Given the description of an element on the screen output the (x, y) to click on. 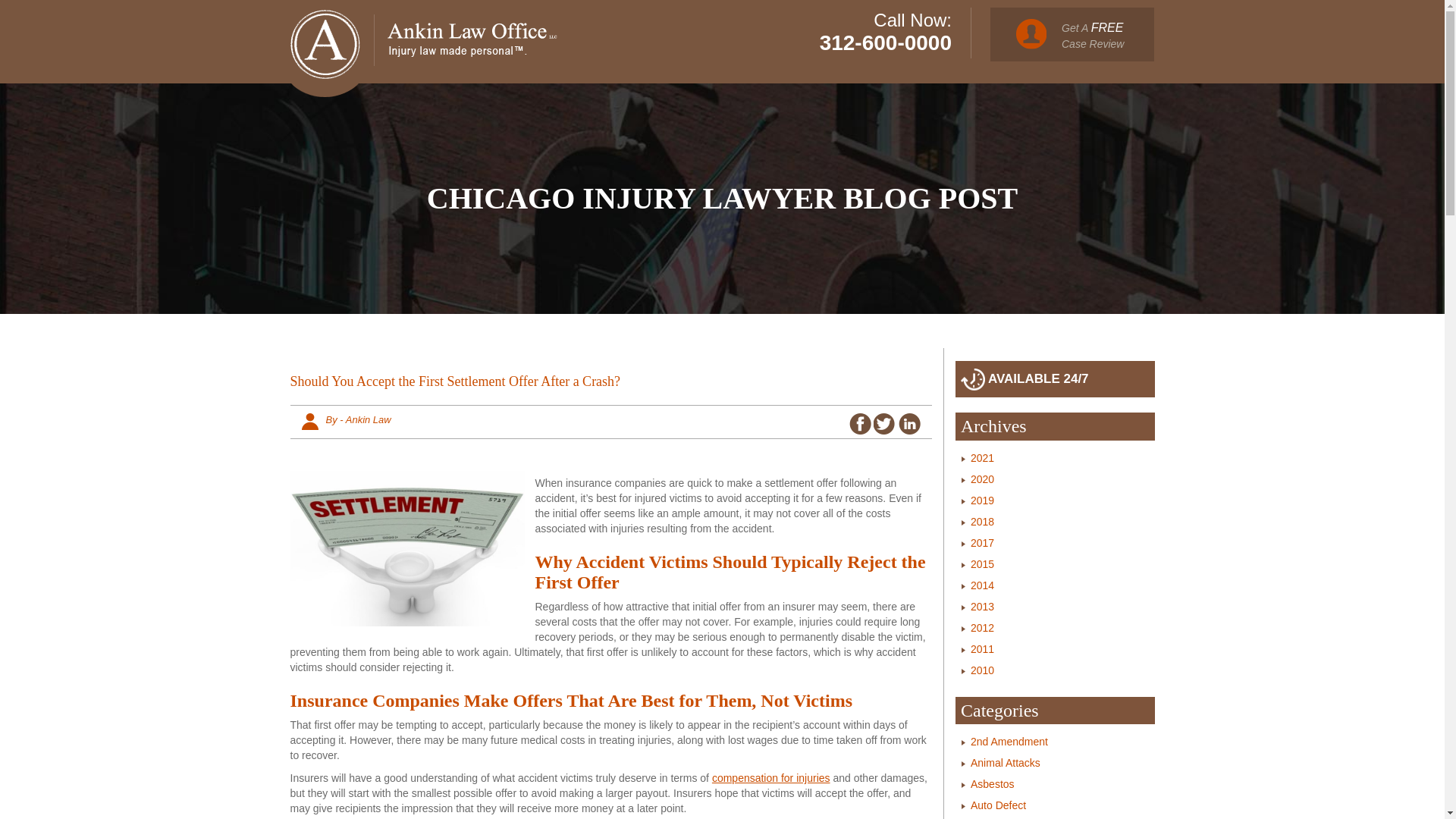
312-600-0000 (885, 42)
2020 (982, 479)
2021 (982, 458)
compensation for injuries (770, 777)
Should You Accept the First Settlement Offer After a Crash? (610, 385)
